Given the description of an element on the screen output the (x, y) to click on. 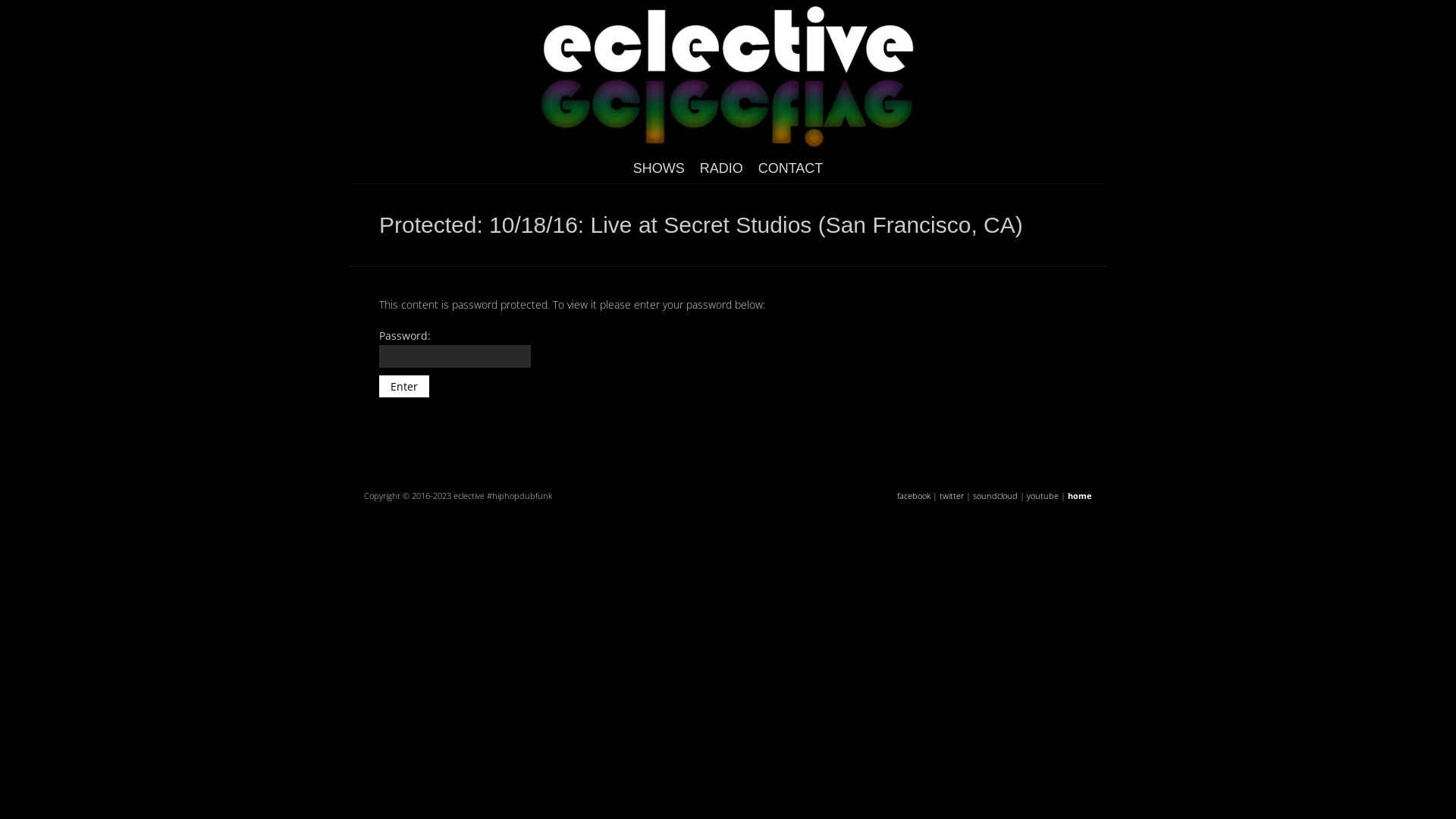
facebook Element type: text (913, 495)
RADIO Element type: text (721, 167)
SHOWS Element type: text (658, 167)
twitter Element type: text (951, 495)
Enter Element type: text (404, 386)
home Element type: text (1079, 495)
youtube Element type: text (1042, 495)
CONTACT Element type: text (790, 167)
soundcloud Element type: text (994, 495)
